Given the description of an element on the screen output the (x, y) to click on. 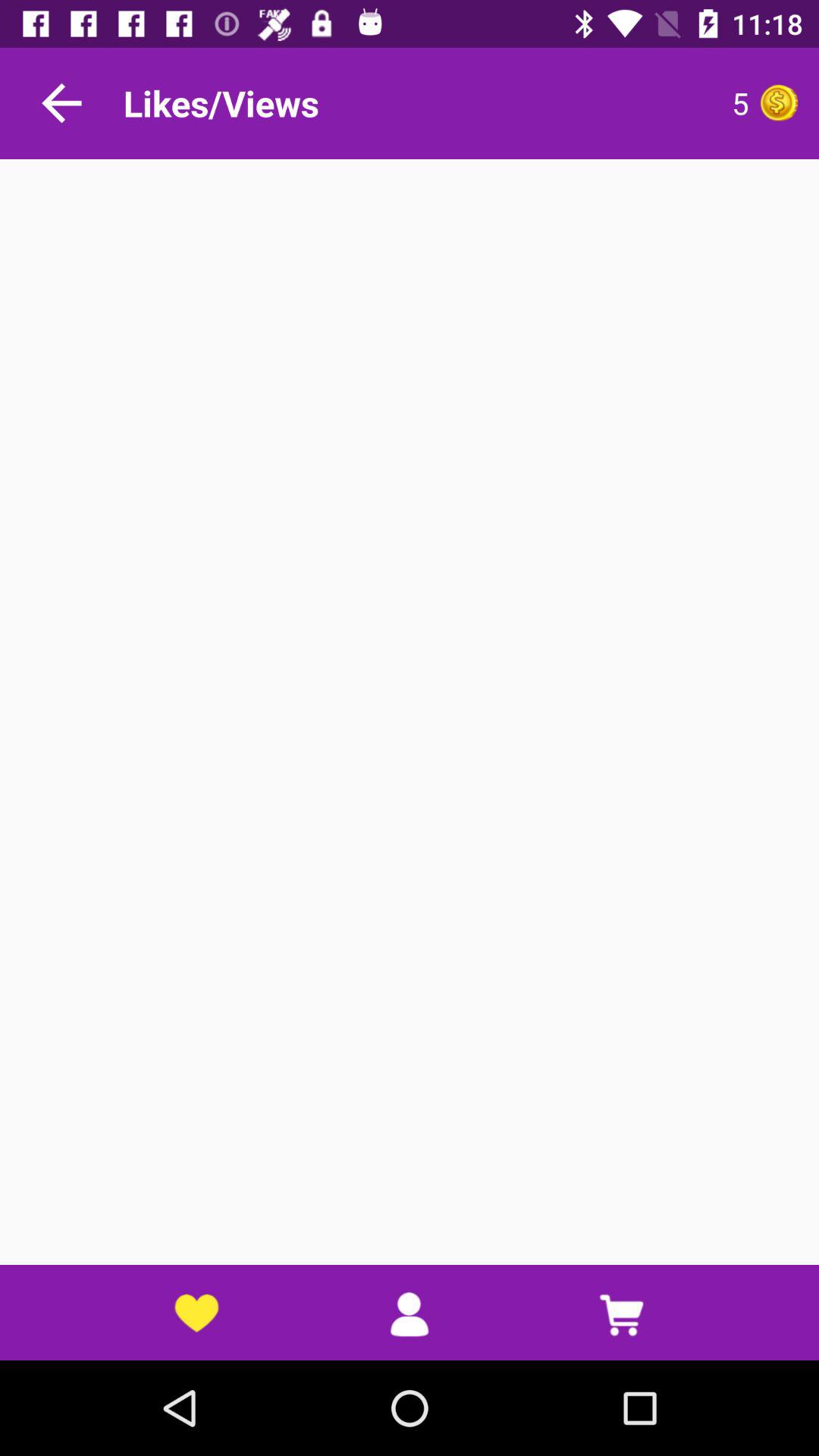
go back (61, 103)
